Given the description of an element on the screen output the (x, y) to click on. 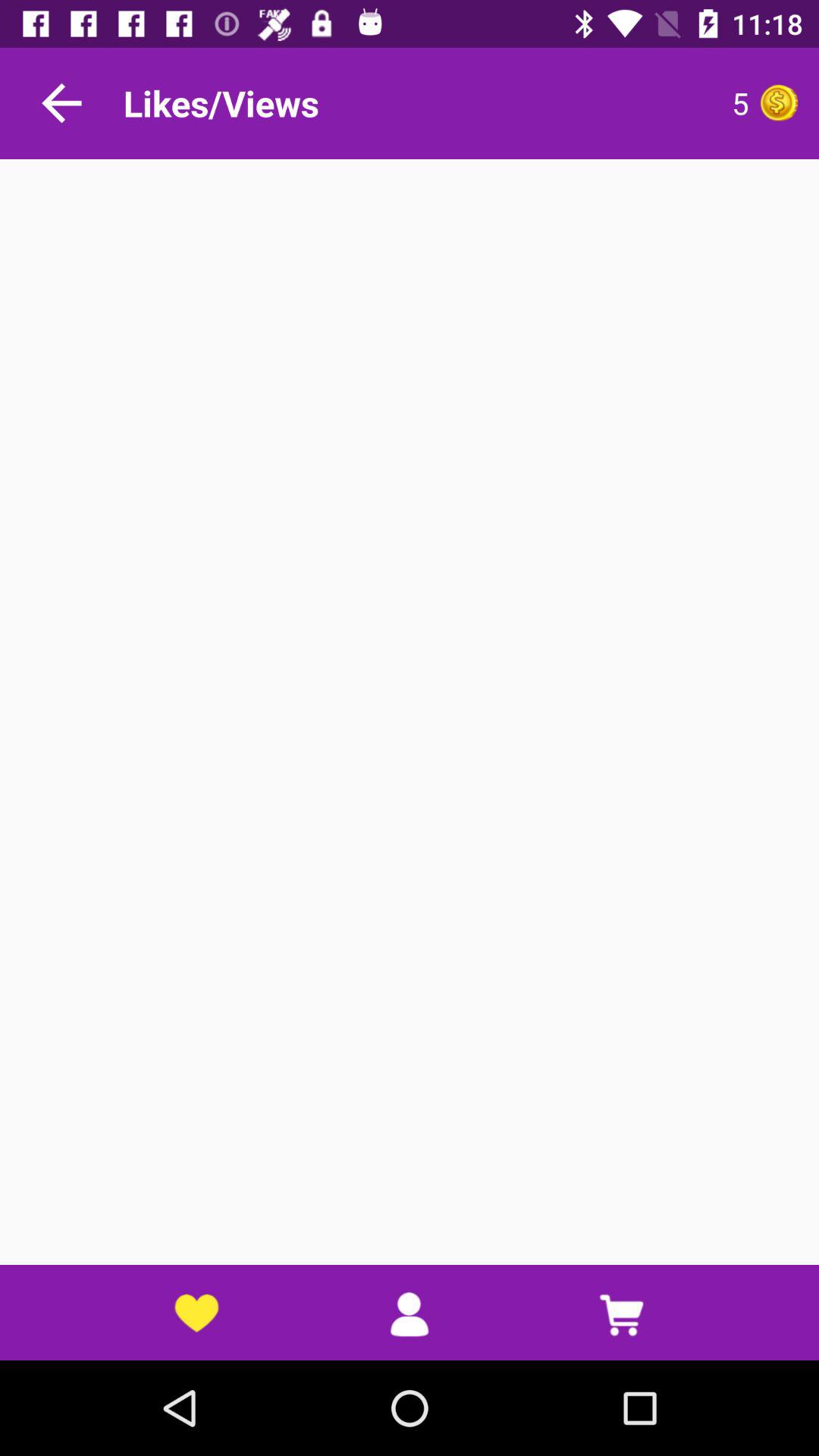
go back (61, 103)
